Given the description of an element on the screen output the (x, y) to click on. 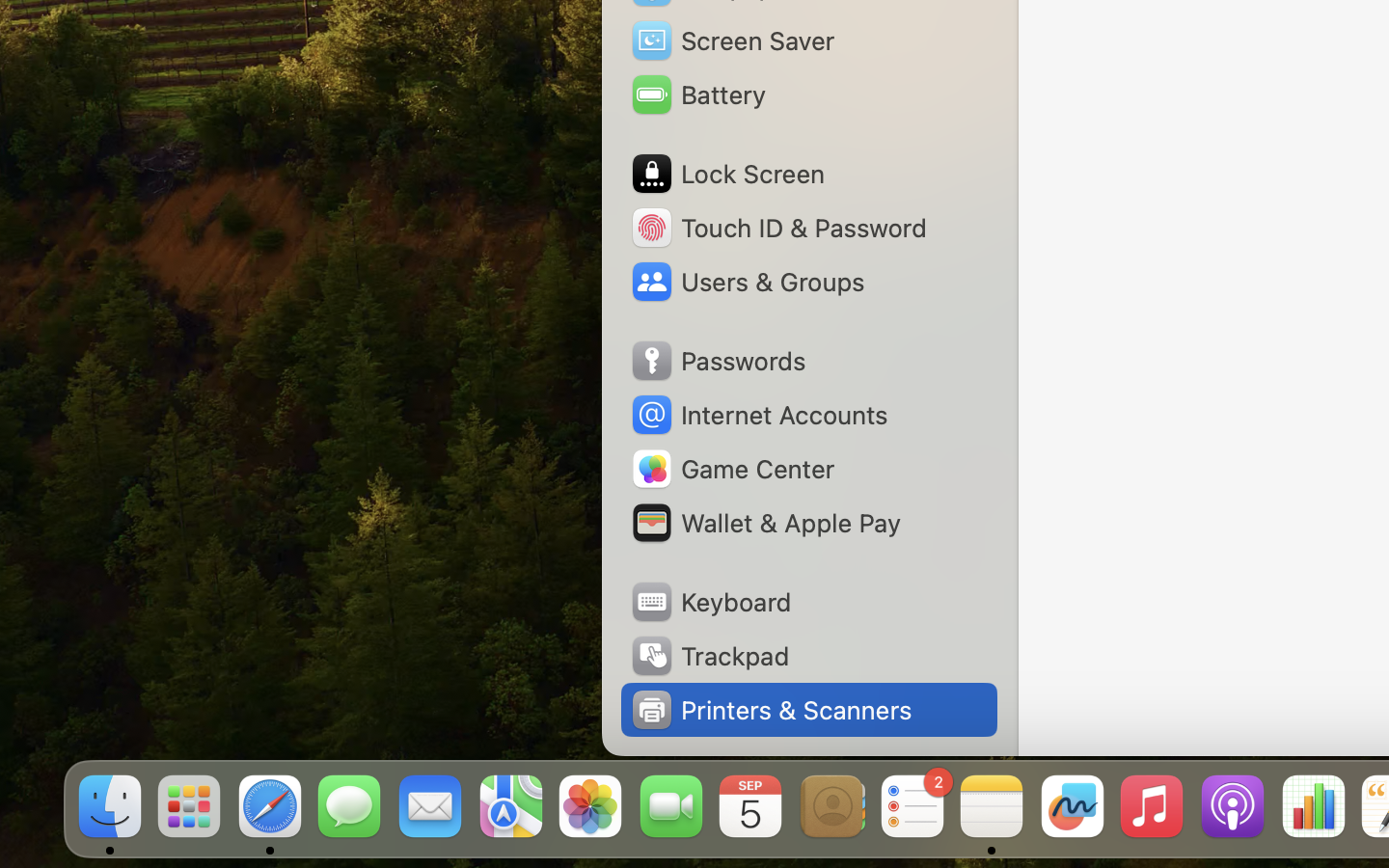
Printers & Scanners Element type: AXStaticText (770, 709)
Screen Saver Element type: AXStaticText (731, 40)
Touch ID & Password Element type: AXStaticText (777, 227)
Battery Element type: AXStaticText (696, 94)
Lock Screen Element type: AXStaticText (726, 173)
